Given the description of an element on the screen output the (x, y) to click on. 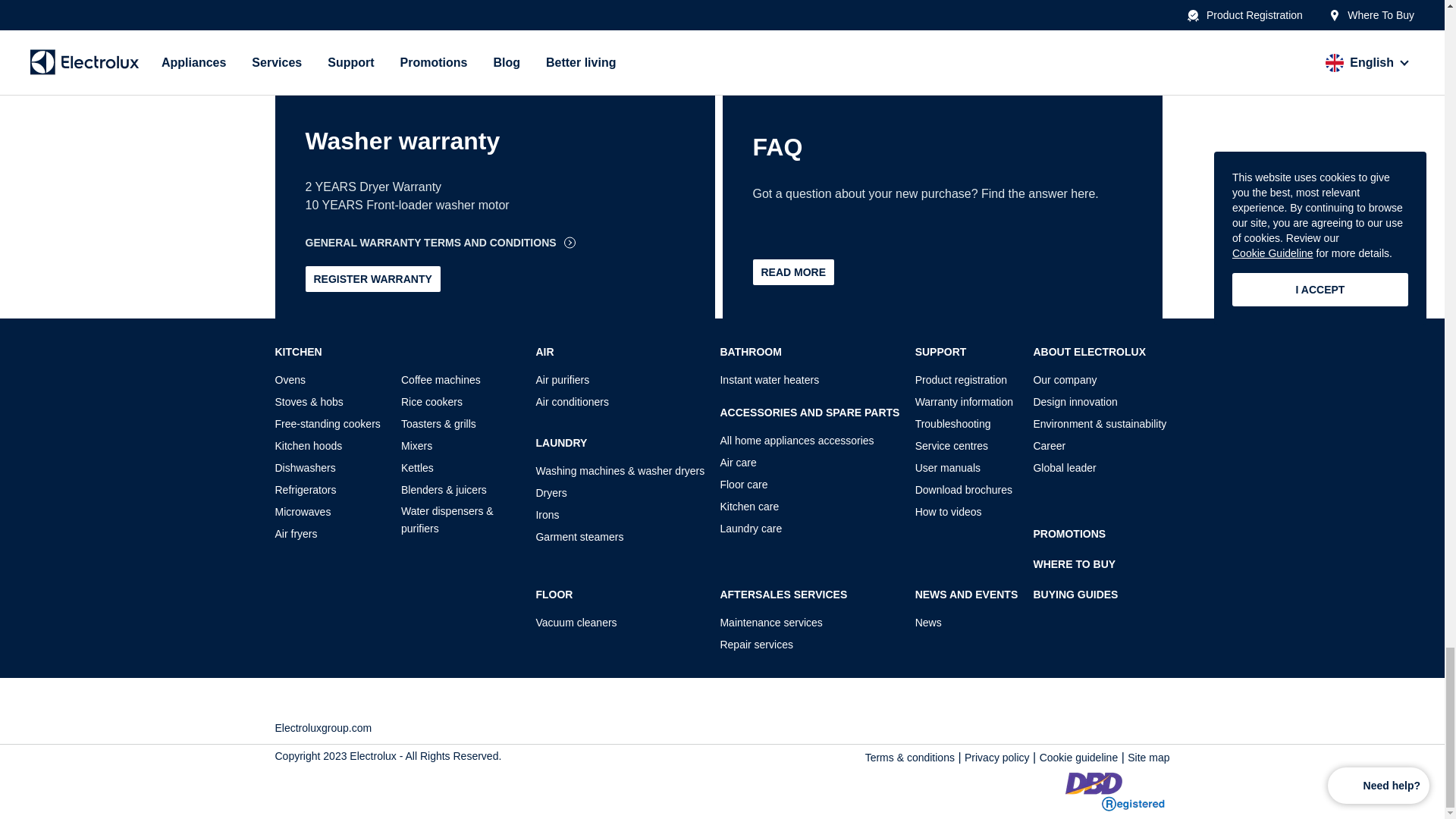
Cookie guideline (1078, 757)
Privacy policy (996, 757)
Site map (1147, 757)
